Given the description of an element on the screen output the (x, y) to click on. 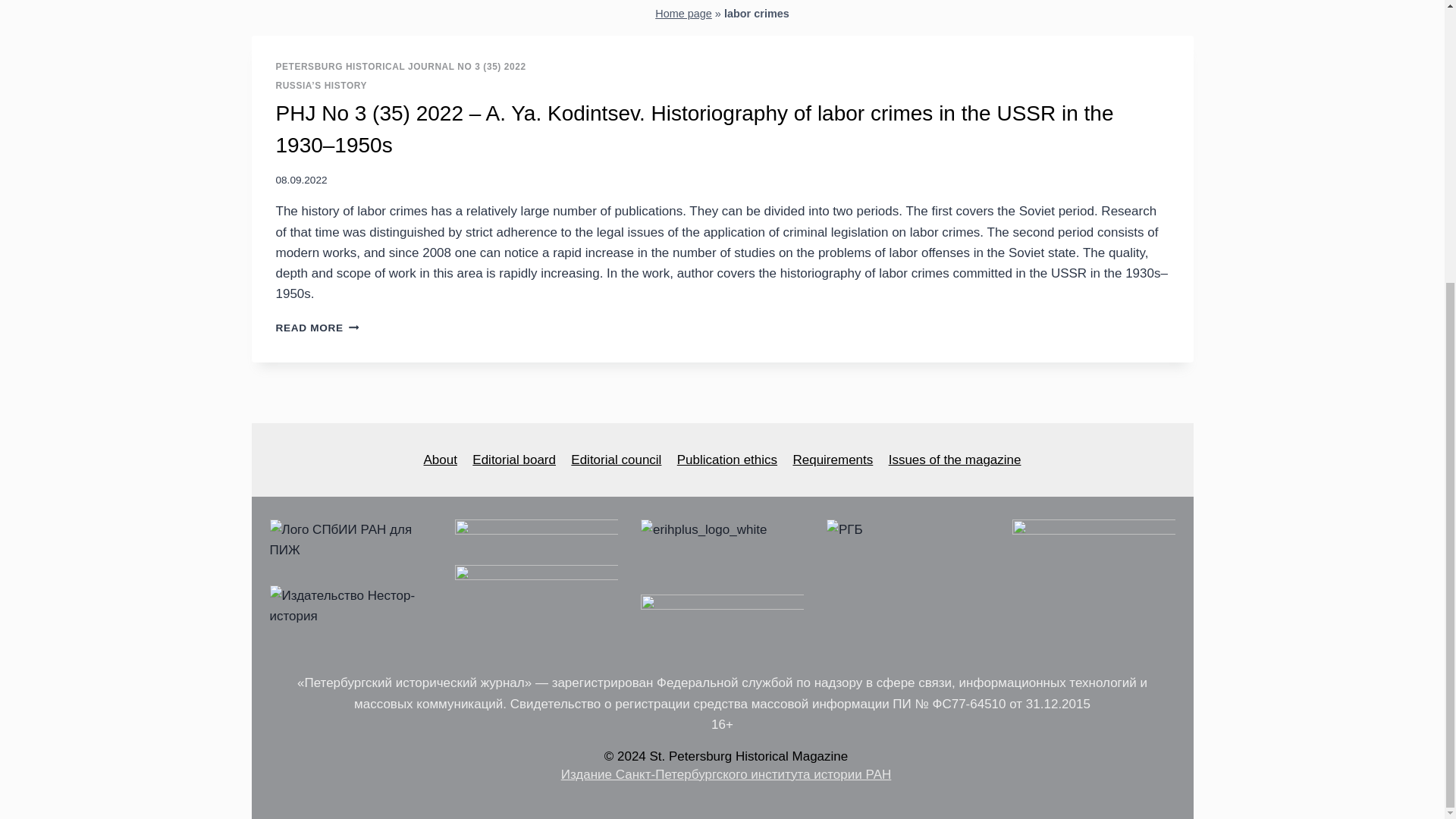
Home page (683, 13)
Requirements (832, 459)
Editorial council (615, 459)
Publication ethics (727, 459)
Editorial board (513, 459)
Editorial board (513, 459)
About (439, 459)
Issues of the magazine (953, 459)
Publication ethics (727, 459)
Editorial council (615, 459)
Requirements for presented materials (832, 459)
